Given the description of an element on the screen output the (x, y) to click on. 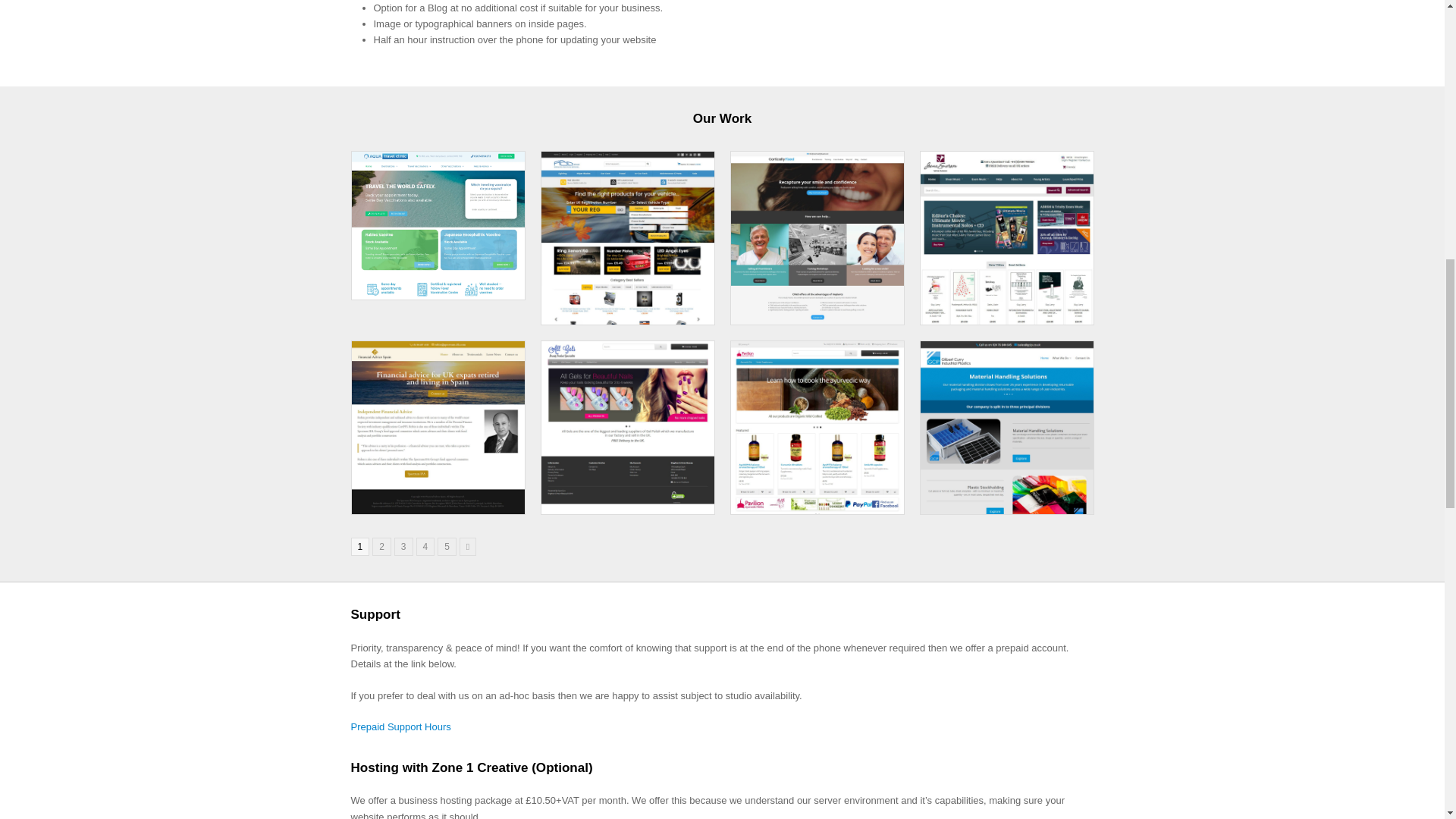
Cortically Fixed (817, 316)
Aqua Travel Clinic (403, 546)
Financial Advice Spain (438, 291)
June Emerson Wind Music (381, 546)
Auto Bulbs Direct (447, 546)
Prepaid Support Hours (438, 505)
